Given the description of an element on the screen output the (x, y) to click on. 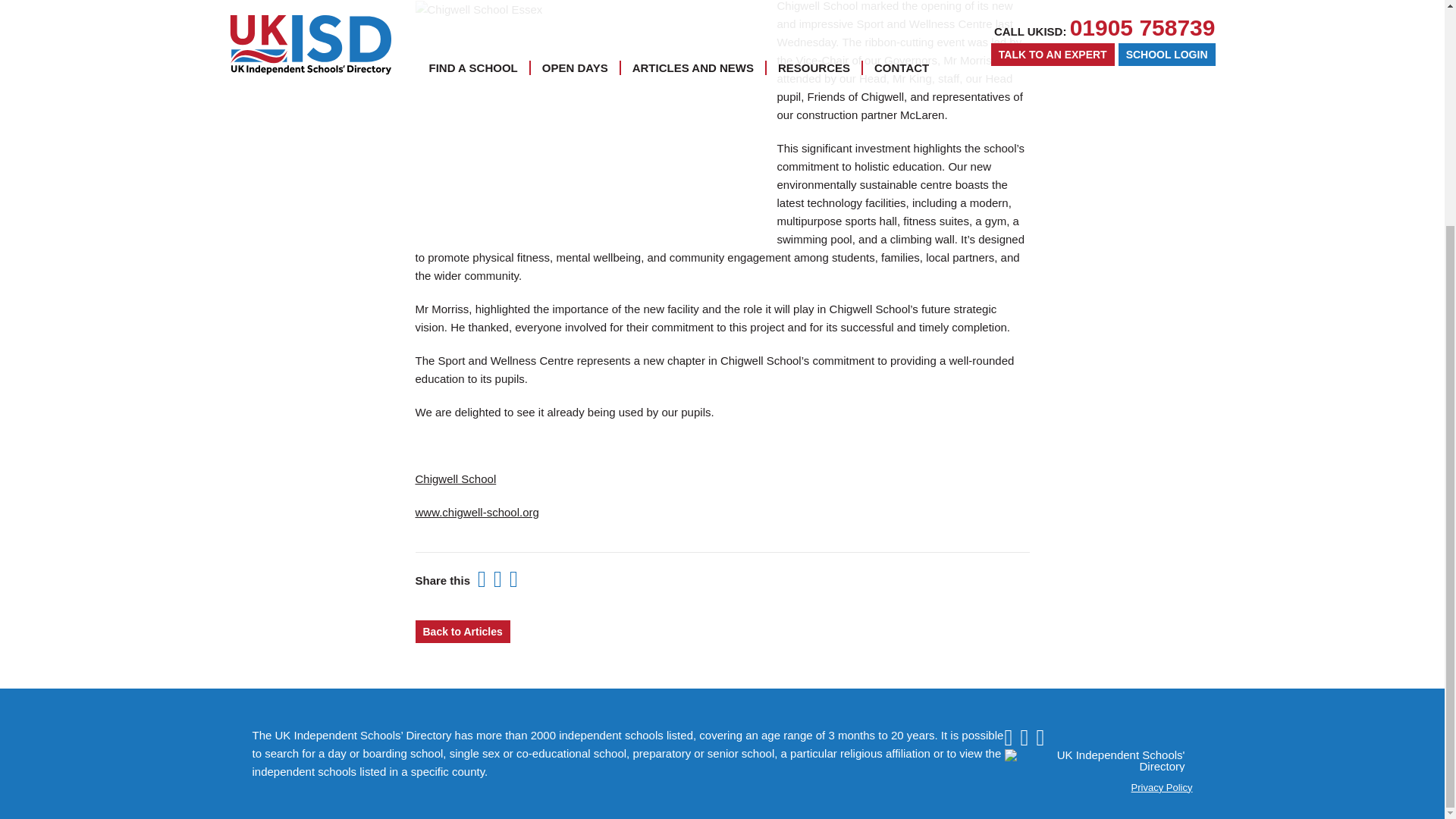
Chigwell School (455, 479)
Privacy Policy (1161, 787)
www.chigwell-school.org (476, 512)
Back to Articles (462, 630)
